Given the description of an element on the screen output the (x, y) to click on. 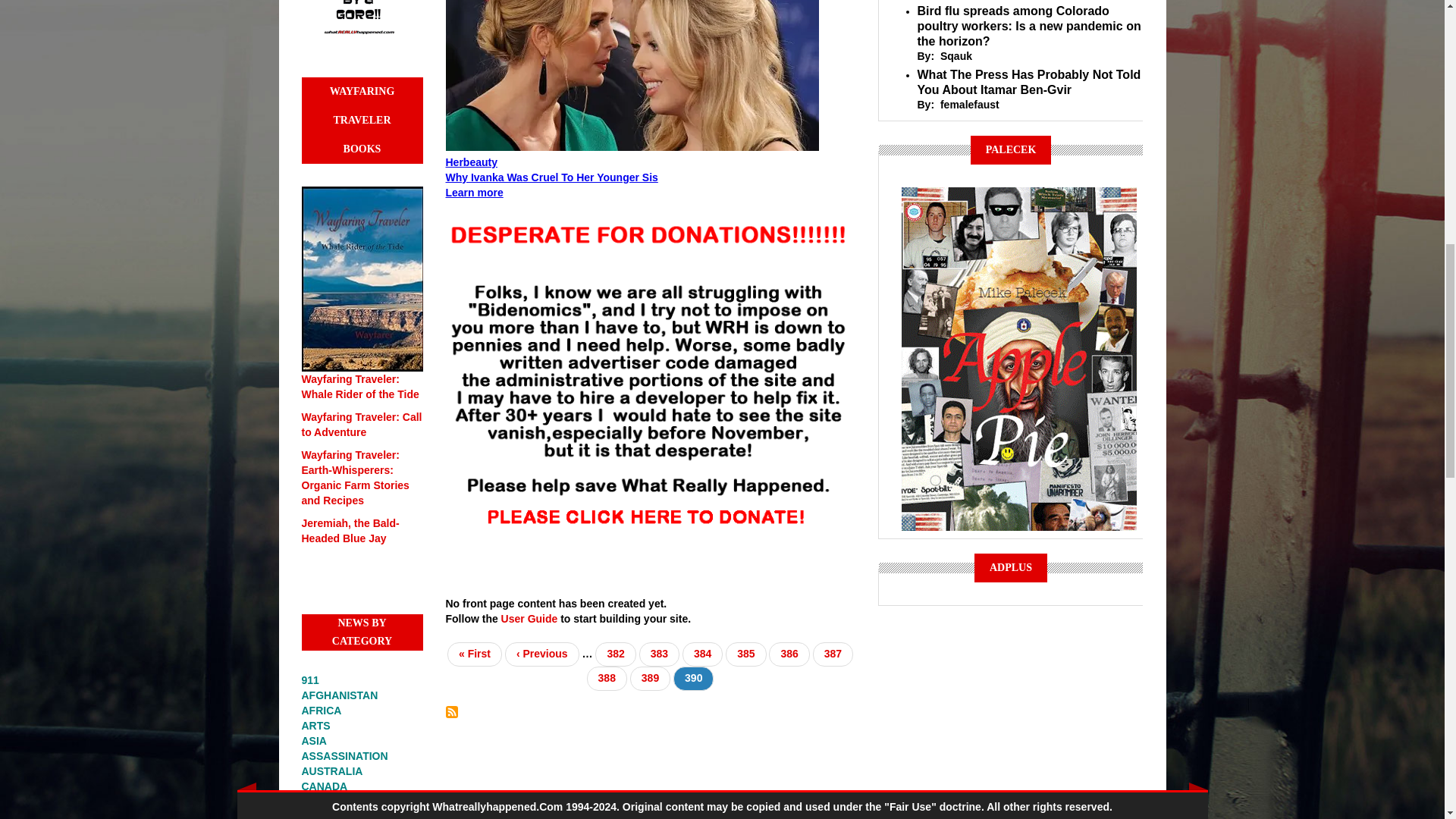
Go to page 386 (788, 654)
Go to page 384 (702, 654)
Go to page 383 (659, 654)
Go to page 389 (649, 678)
Go to page 388 (606, 678)
Go to page 387 (832, 654)
Go to page 382 (614, 654)
Go to first page (474, 654)
Current page (692, 678)
Go to page 385 (745, 654)
Go to previous page (542, 654)
